Given the description of an element on the screen output the (x, y) to click on. 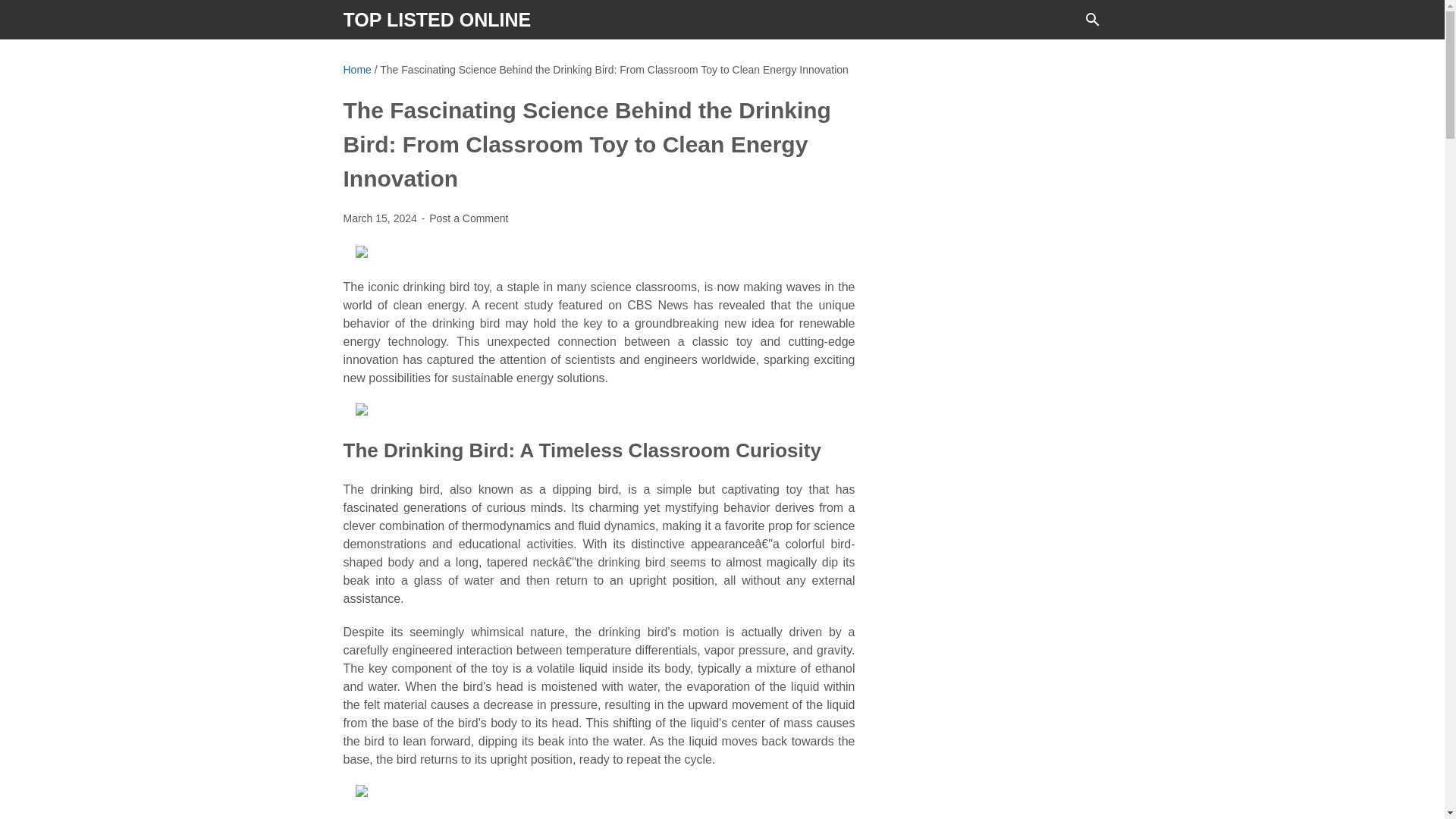
Post a Comment (468, 218)
Search this blog (1091, 19)
TOP LISTED ONLINE (436, 19)
Top Listed Online (436, 19)
2024-03-15T03:00:00-07:00 (380, 218)
Home (356, 69)
Home (356, 69)
